Given the description of an element on the screen output the (x, y) to click on. 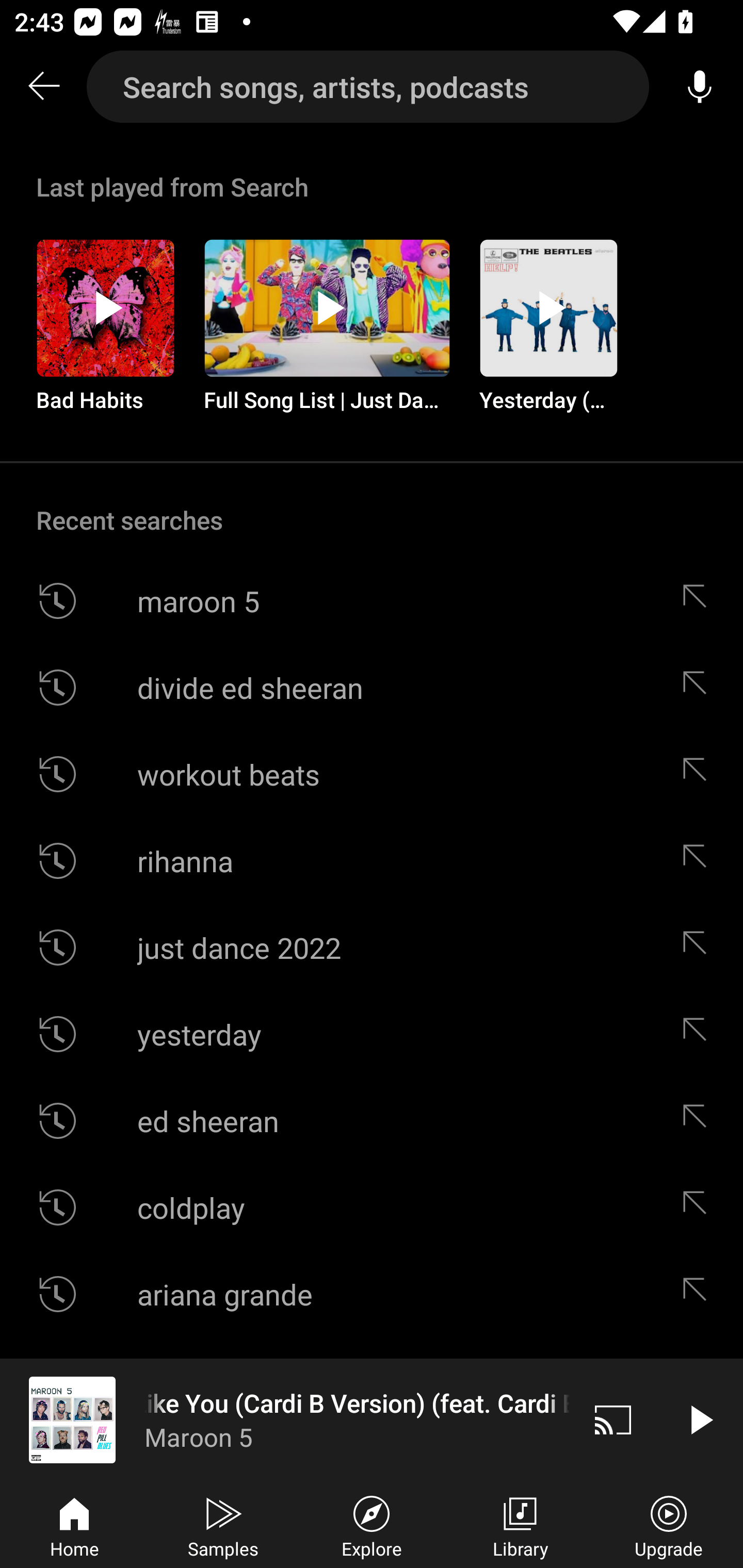
Search back (43, 86)
Search songs, artists, podcasts (367, 86)
Voice search (699, 86)
maroon 5 Edit suggestion maroon 5 (371, 601)
Edit suggestion maroon 5 (699, 601)
Edit suggestion divide ed sheeran (699, 687)
workout beats Edit suggestion workout beats (371, 773)
Edit suggestion workout beats (699, 773)
rihanna Edit suggestion rihanna (371, 860)
Edit suggestion rihanna (699, 860)
just dance 2022 Edit suggestion just dance 2022 (371, 947)
Edit suggestion just dance 2022 (699, 947)
yesterday Edit suggestion yesterday (371, 1033)
Edit suggestion yesterday (699, 1033)
ed sheeran Edit suggestion ed sheeran (371, 1120)
Edit suggestion ed sheeran (699, 1120)
coldplay Edit suggestion coldplay (371, 1207)
Edit suggestion coldplay (699, 1207)
ariana grande Edit suggestion ariana grande (371, 1294)
Edit suggestion ariana grande (699, 1294)
Cast. Disconnected (612, 1419)
Play video (699, 1419)
Home (74, 1524)
Samples (222, 1524)
Explore (371, 1524)
Library (519, 1524)
Upgrade (668, 1524)
